Given the description of an element on the screen output the (x, y) to click on. 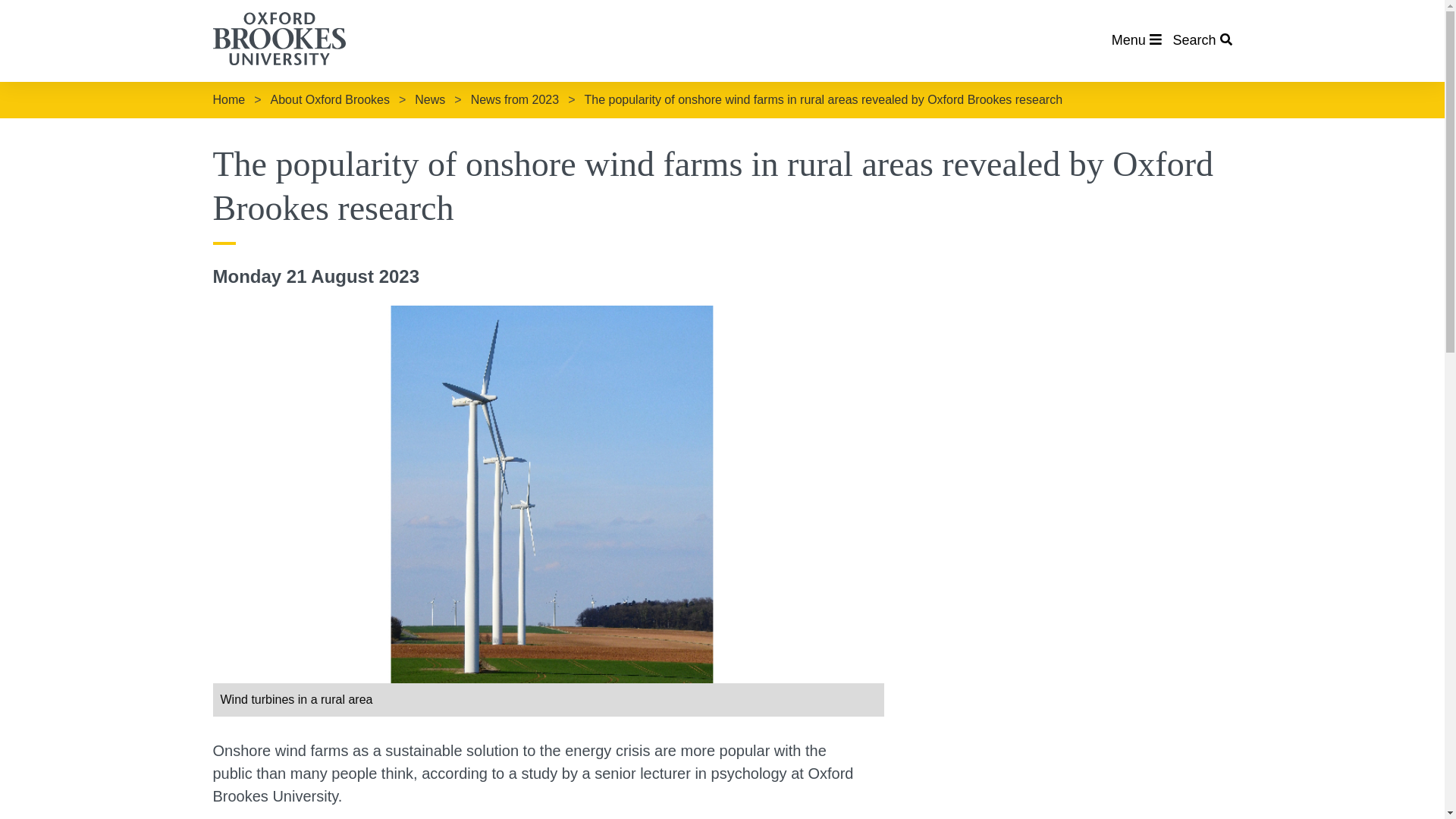
Search (1201, 39)
Menu (1136, 39)
